Given the description of an element on the screen output the (x, y) to click on. 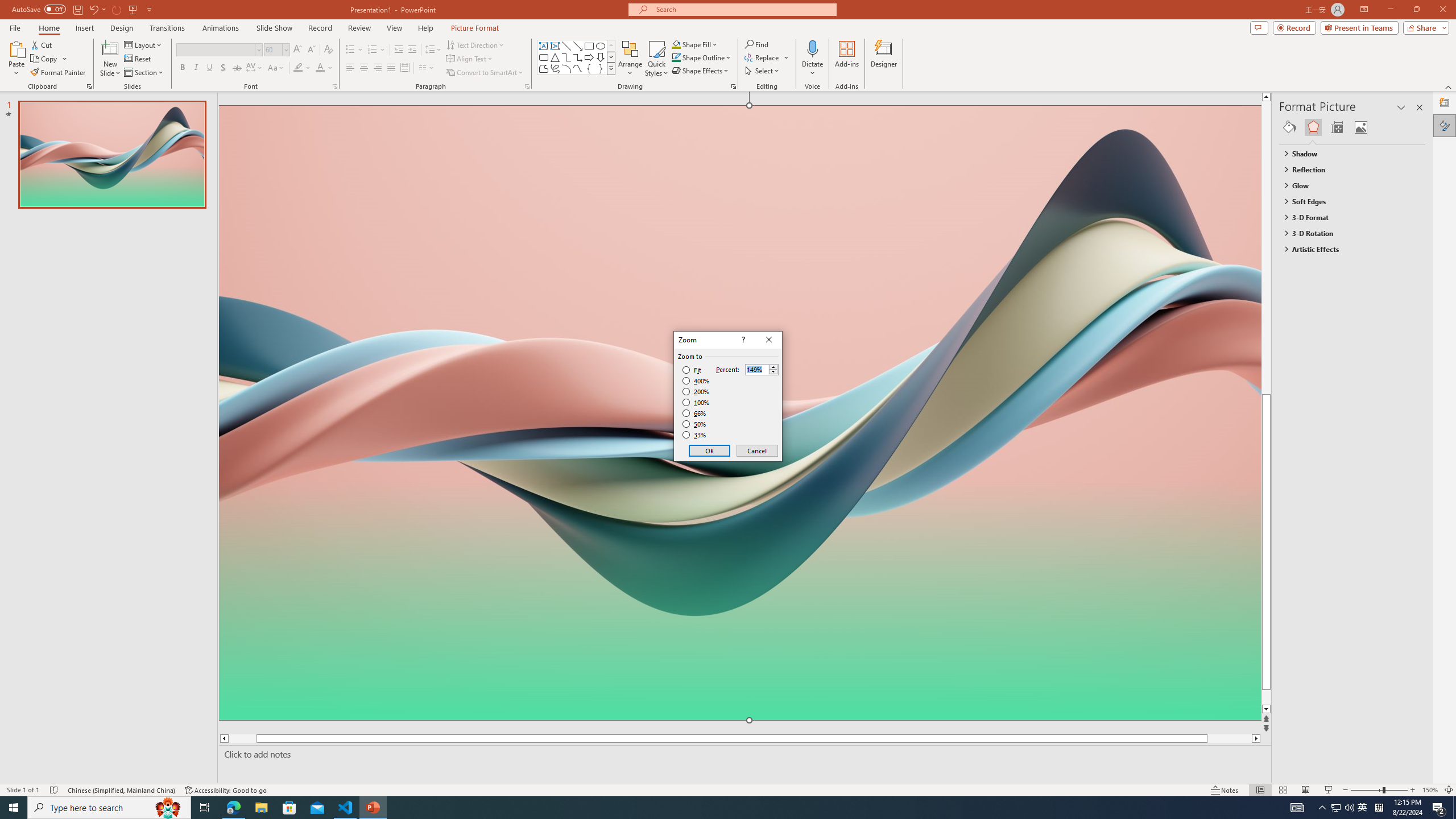
Shape Fill Orange, Accent 2 (675, 44)
Percent (761, 369)
